Given the description of an element on the screen output the (x, y) to click on. 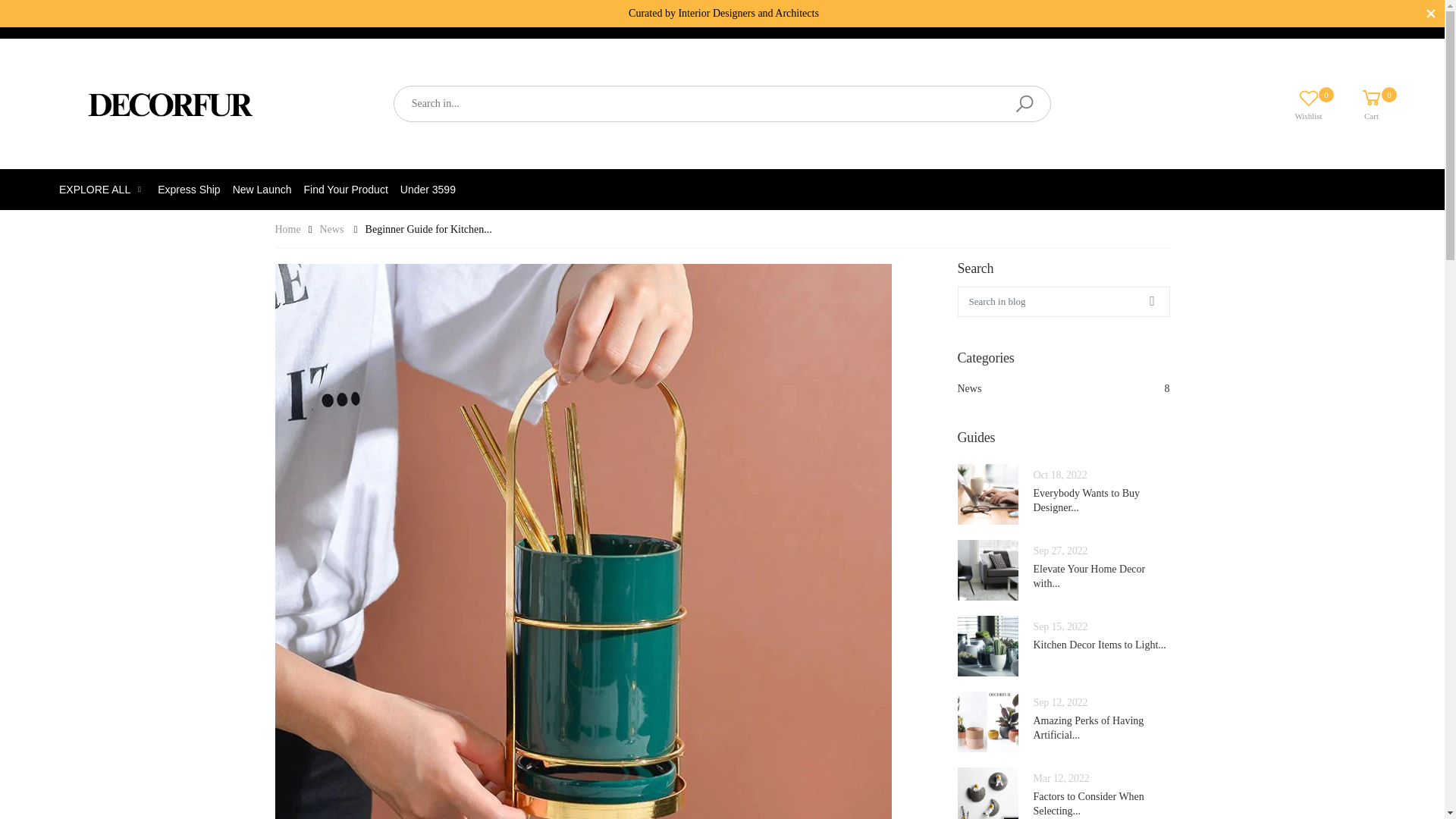
EXPLORE ALL (102, 188)
News (1359, 103)
Home (1062, 388)
